Given the description of an element on the screen output the (x, y) to click on. 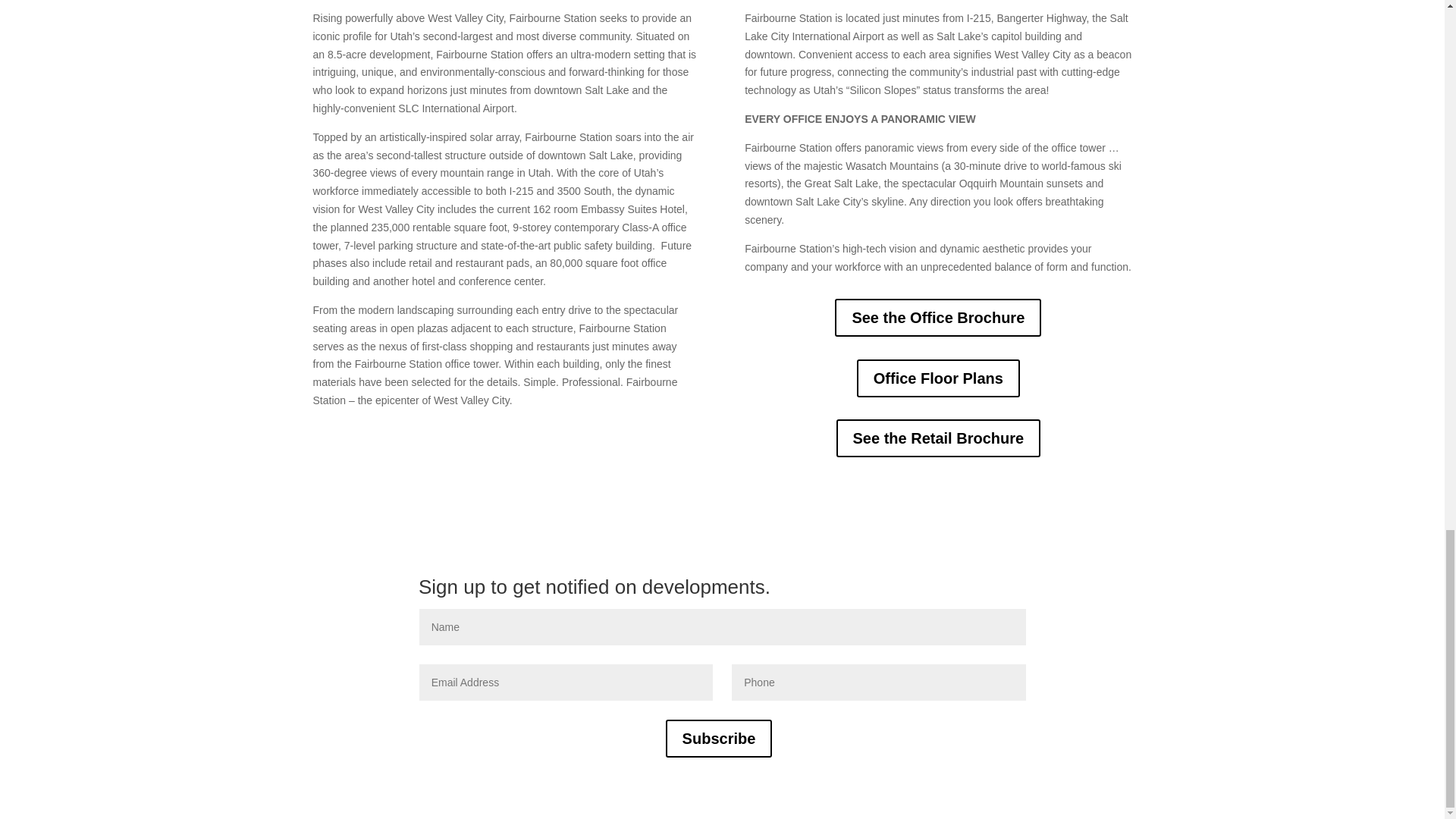
See the Office Brochure (937, 317)
See the Retail Brochure (938, 438)
Office Floor Plans (938, 378)
Subscribe (719, 738)
